Given the description of an element on the screen output the (x, y) to click on. 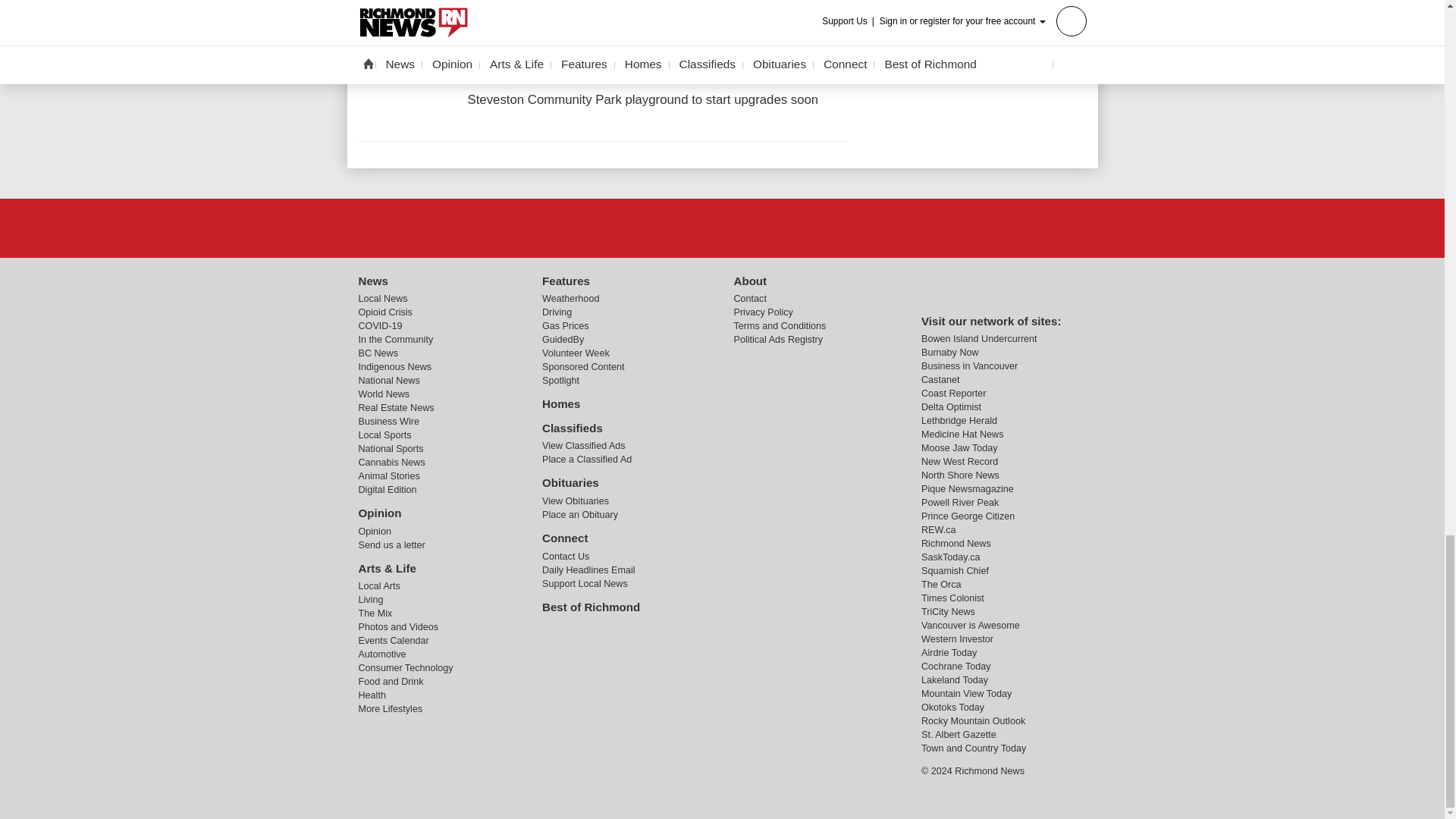
X (721, 226)
Facebook (683, 226)
Instagram (760, 226)
